Given the description of an element on the screen output the (x, y) to click on. 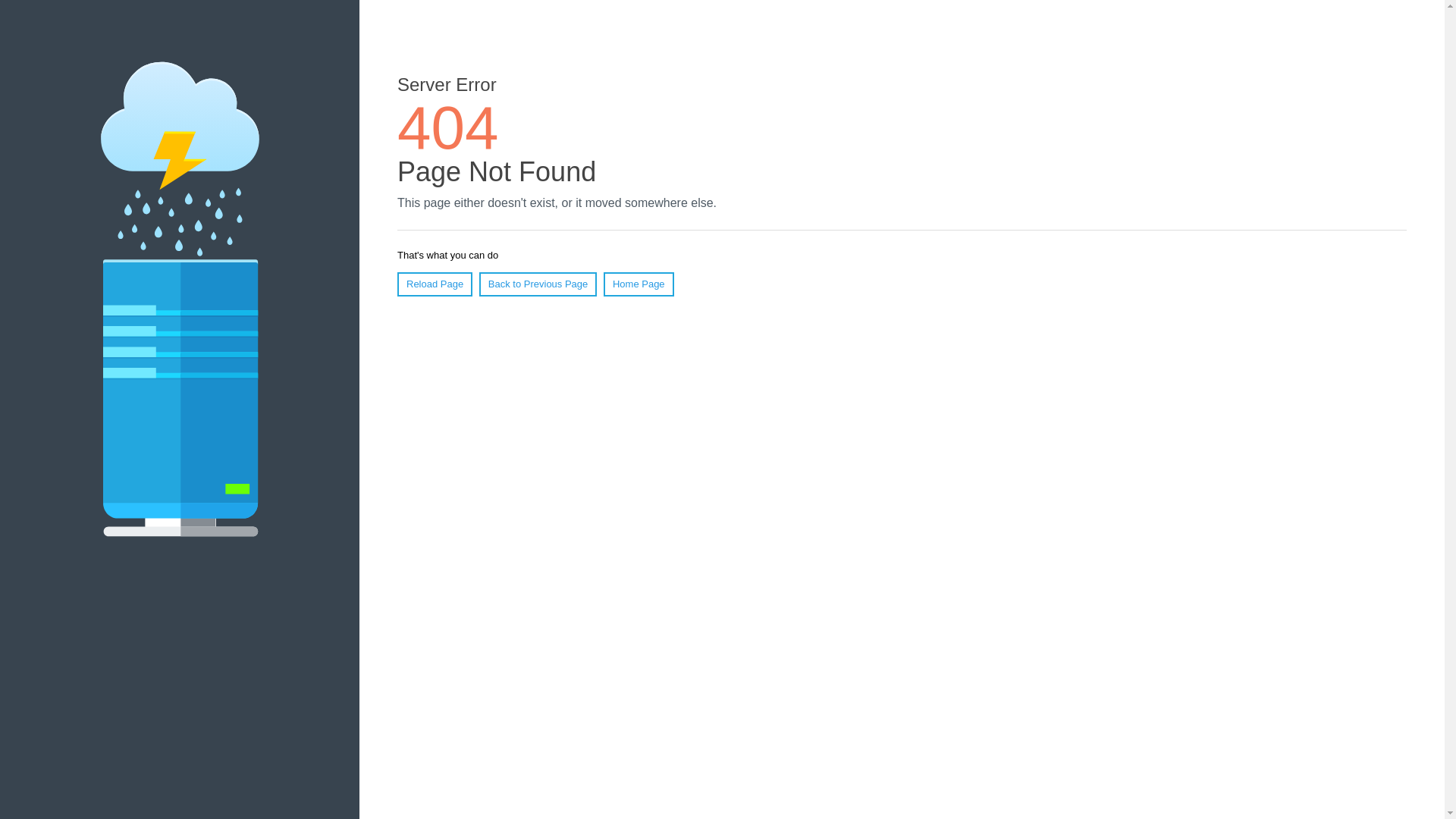
Reload Page Element type: text (434, 284)
Back to Previous Page Element type: text (538, 284)
Home Page Element type: text (638, 284)
